Given the description of an element on the screen output the (x, y) to click on. 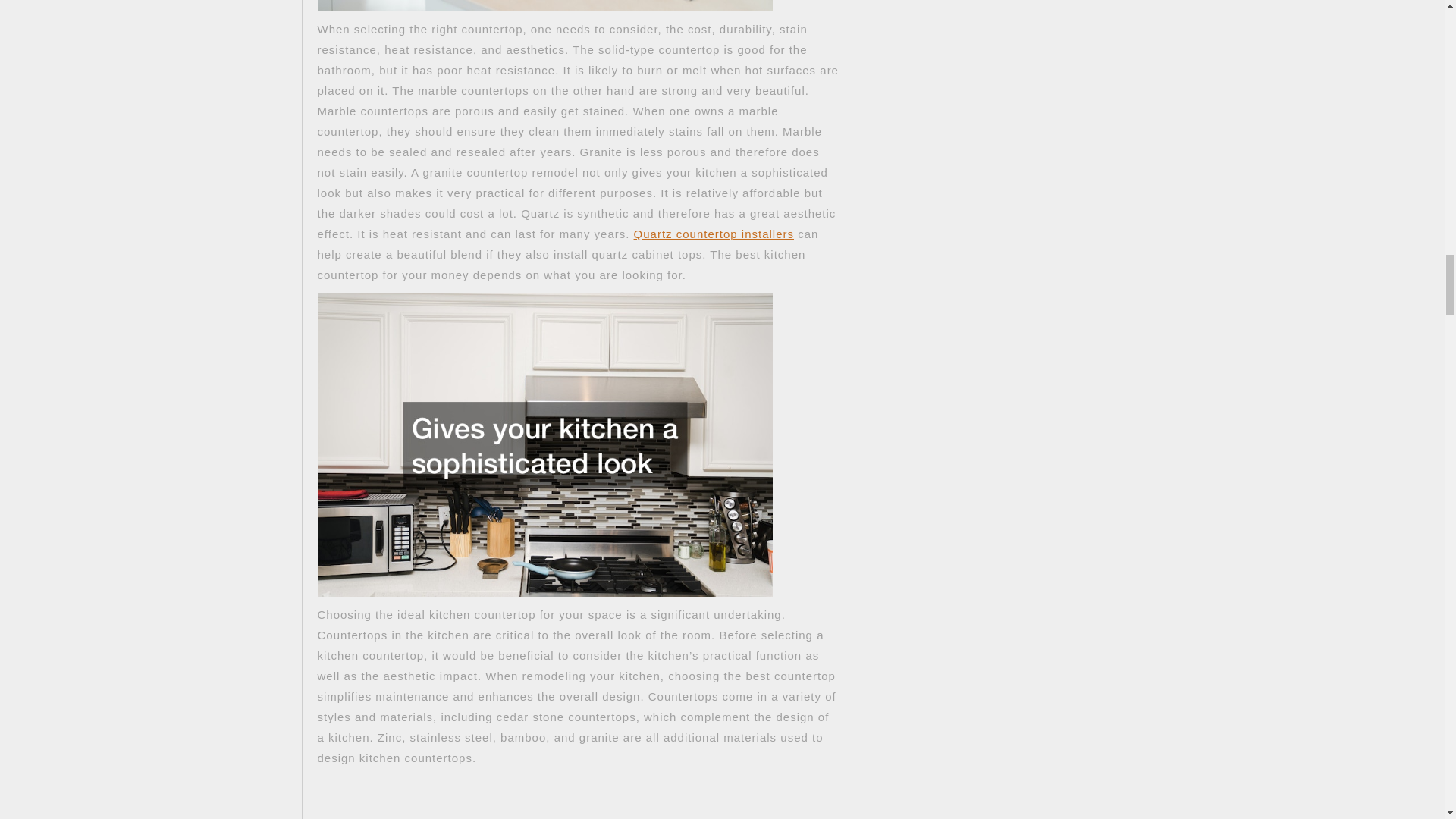
YouTube video player (529, 793)
Quartz countertop installers (713, 233)
